Given the description of an element on the screen output the (x, y) to click on. 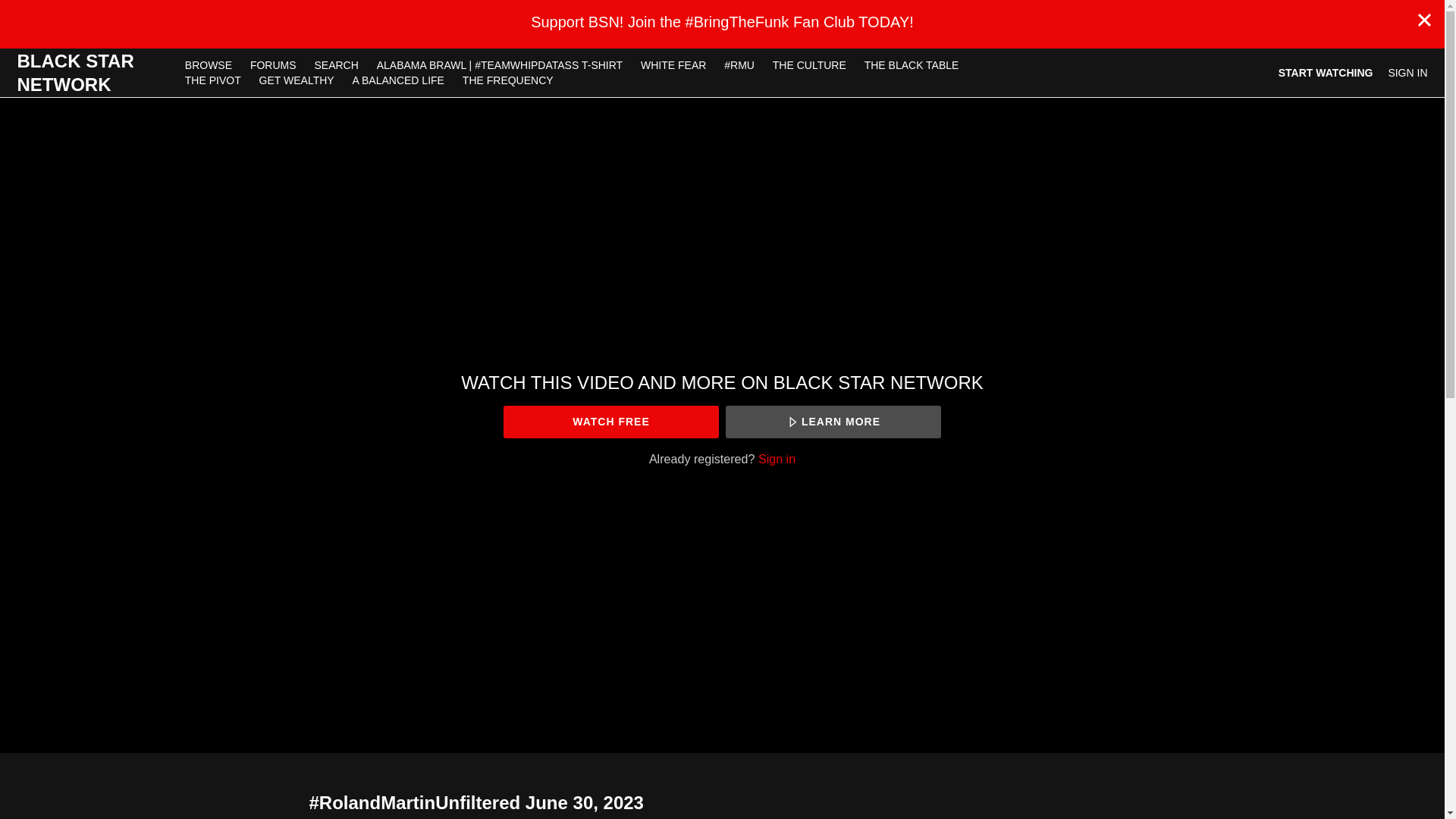
THE BLACK TABLE (911, 64)
WHITE FEAR (673, 64)
SEARCH (336, 64)
Sign in (776, 459)
THE FREQUENCY (507, 80)
Skip to main content (48, 7)
BROWSE (210, 64)
BLACK STAR NETWORK (90, 72)
WATCH FREE (610, 421)
GET WEALTHY (296, 80)
THE CULTURE (809, 64)
SIGN IN (1406, 72)
FORUMS (275, 64)
LEARN MORE (832, 421)
